Given the description of an element on the screen output the (x, y) to click on. 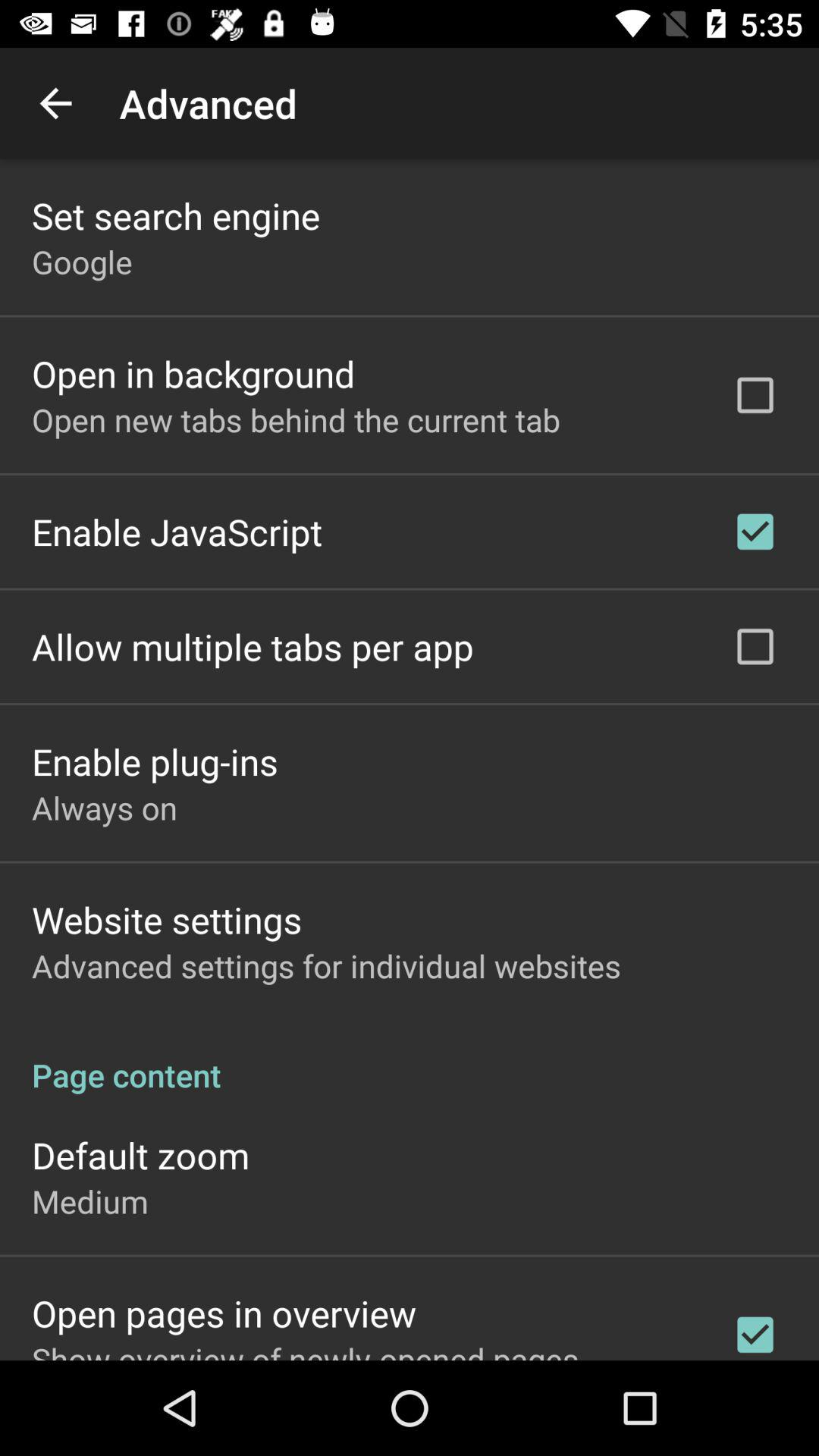
click the app above the set search engine item (55, 103)
